Given the description of an element on the screen output the (x, y) to click on. 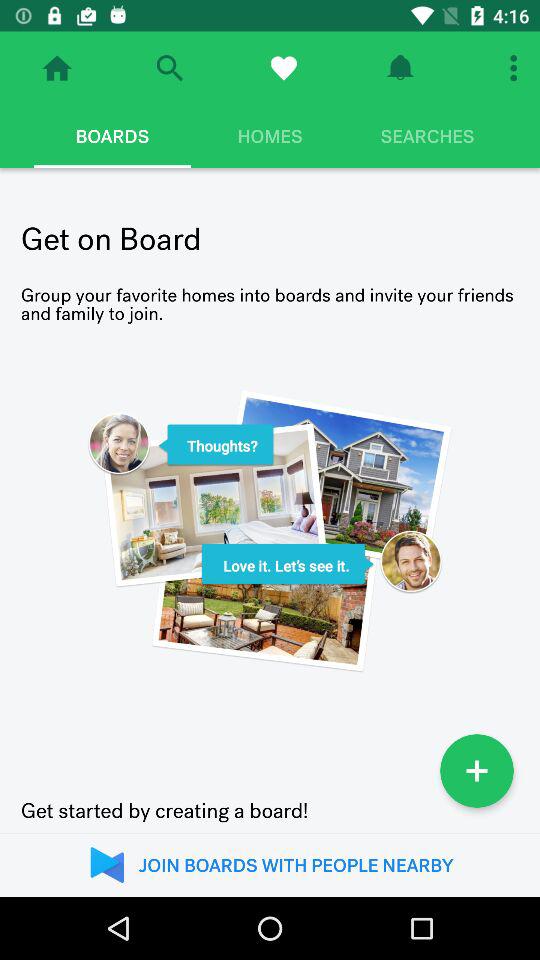
like (283, 68)
